Given the description of an element on the screen output the (x, y) to click on. 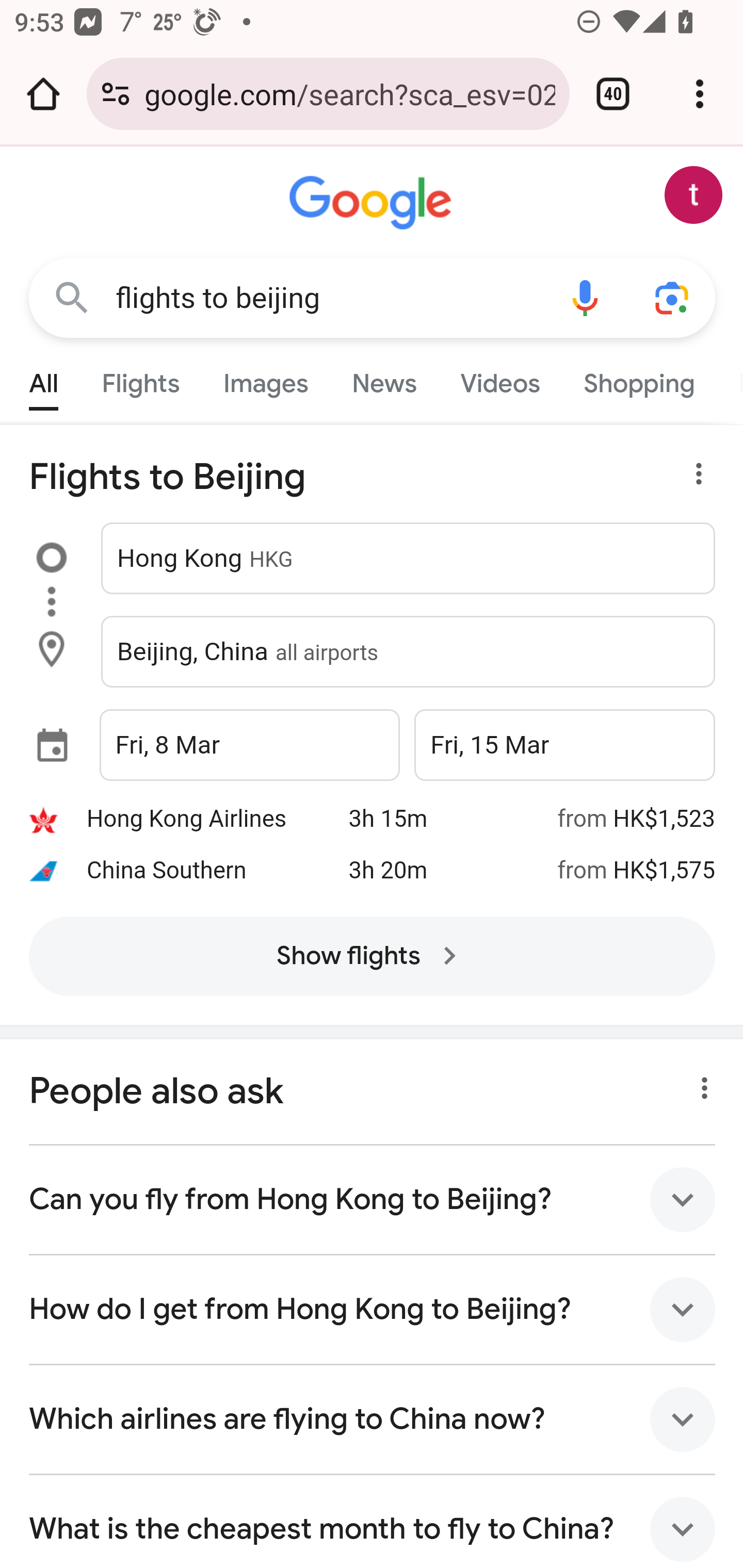
Open the home page (43, 93)
Connection is secure (115, 93)
Switch or close tabs (612, 93)
Customize and control Google Chrome (699, 93)
Google (372, 203)
Google Search (71, 296)
Search using your camera or photos (672, 296)
flights to beijing (328, 297)
Flights (140, 378)
Images (265, 378)
News (384, 378)
Videos (499, 378)
Shopping (639, 378)
About this result (683, 482)
Hong Kong, HKG, Enter an origin (408, 558)
Beijing, China, all airports, Enter a destination (408, 652)
 Fri, 8 Mar, Departure date  (248, 744)
 Fri, 15 Mar, Return date  (564, 744)
Show flights on Google Flights Show flights (371, 956)
About this result (698, 1081)
Can you fly from Hong Kong to Beijing? (372, 1199)
How do I get from Hong Kong to Beijing? (372, 1309)
Which airlines are flying to China now? (372, 1418)
What is the cheapest month to fly to China? (372, 1520)
